Given the description of an element on the screen output the (x, y) to click on. 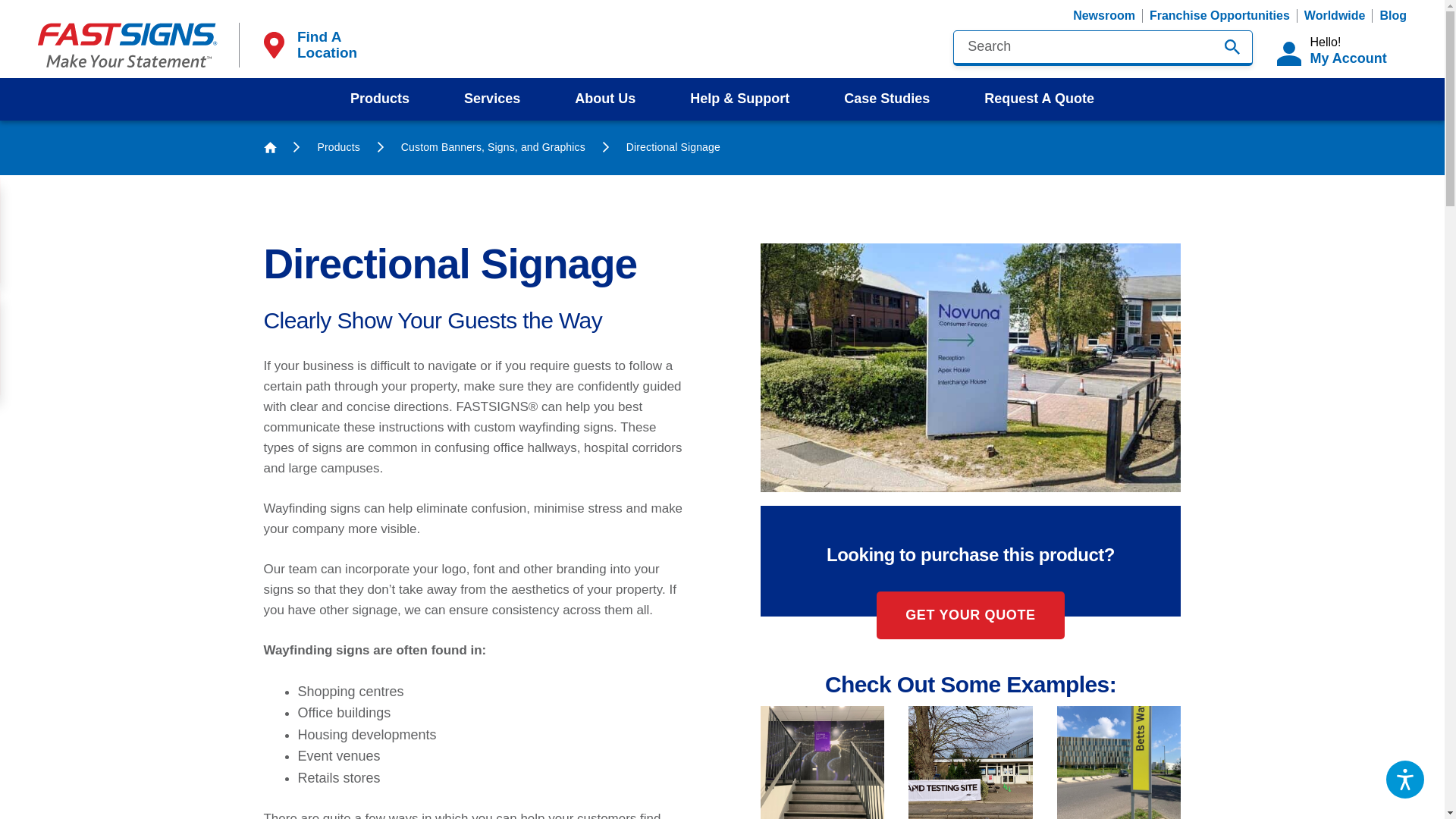
FASTSIGNS (126, 44)
Find A Location (307, 44)
